Given the description of an element on the screen output the (x, y) to click on. 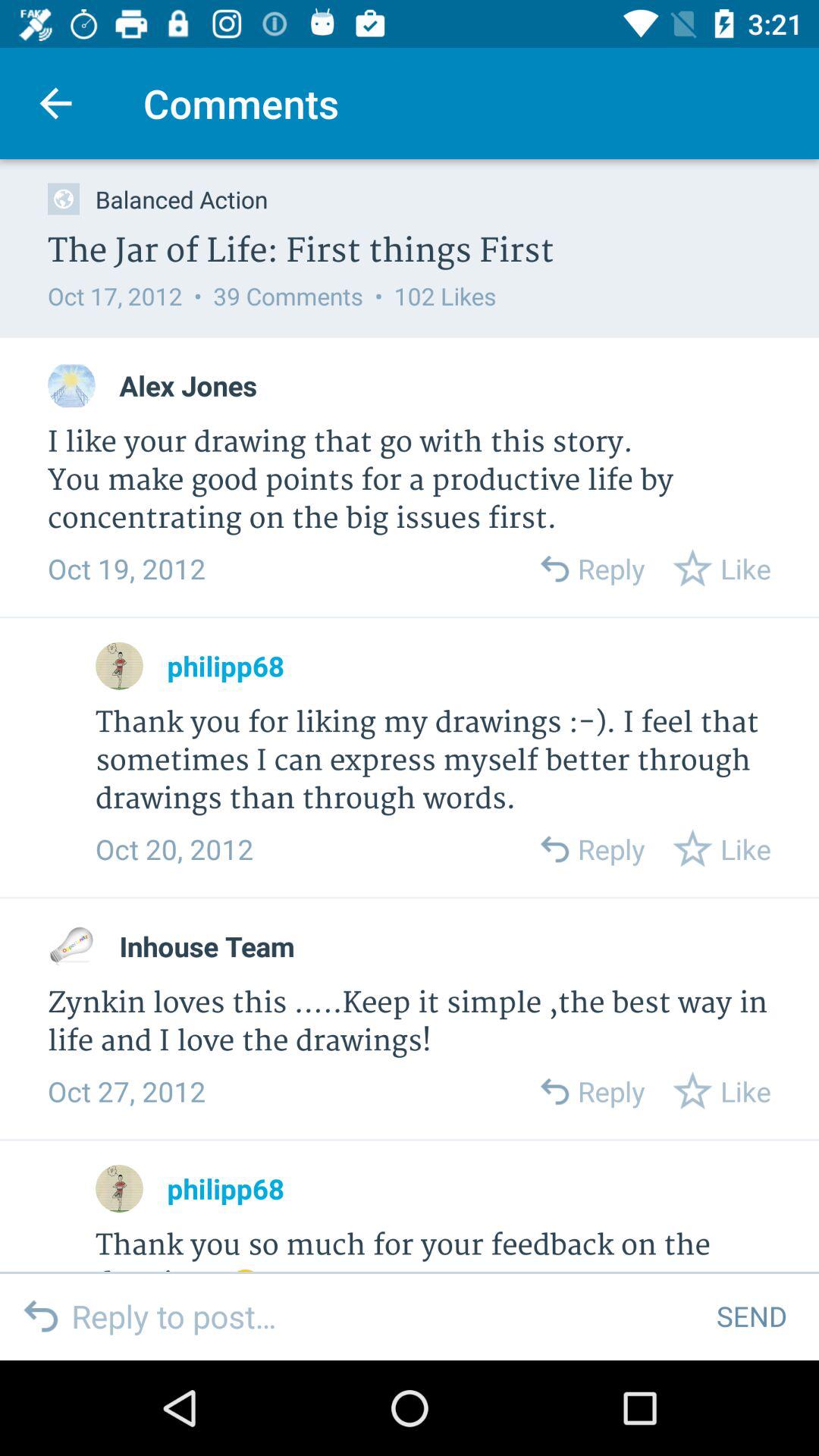
launch the item below oct 20, 2012 item (206, 946)
